Given the description of an element on the screen output the (x, y) to click on. 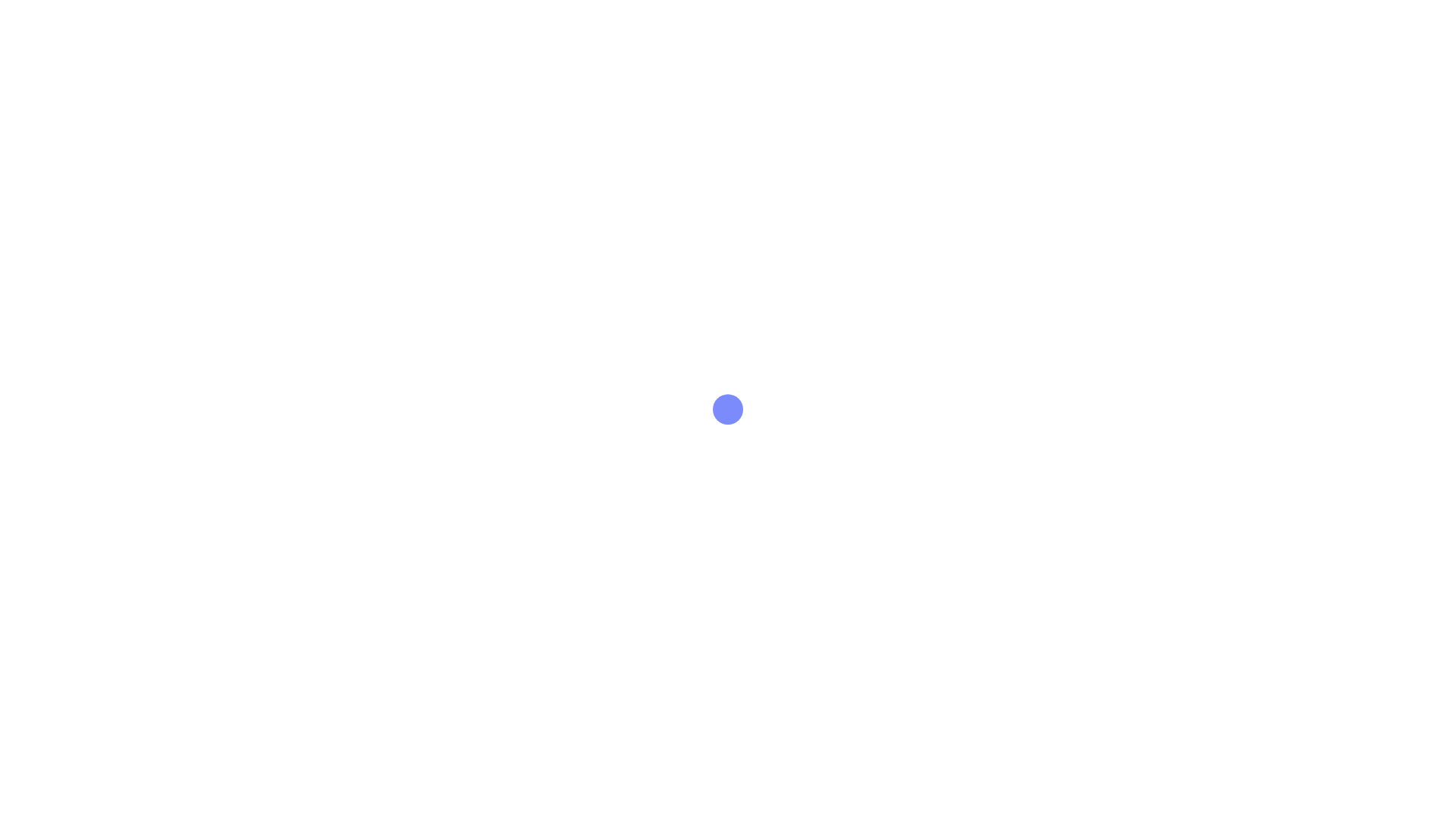
info@cpc.by Element type: text (727, 360)
